Given the description of an element on the screen output the (x, y) to click on. 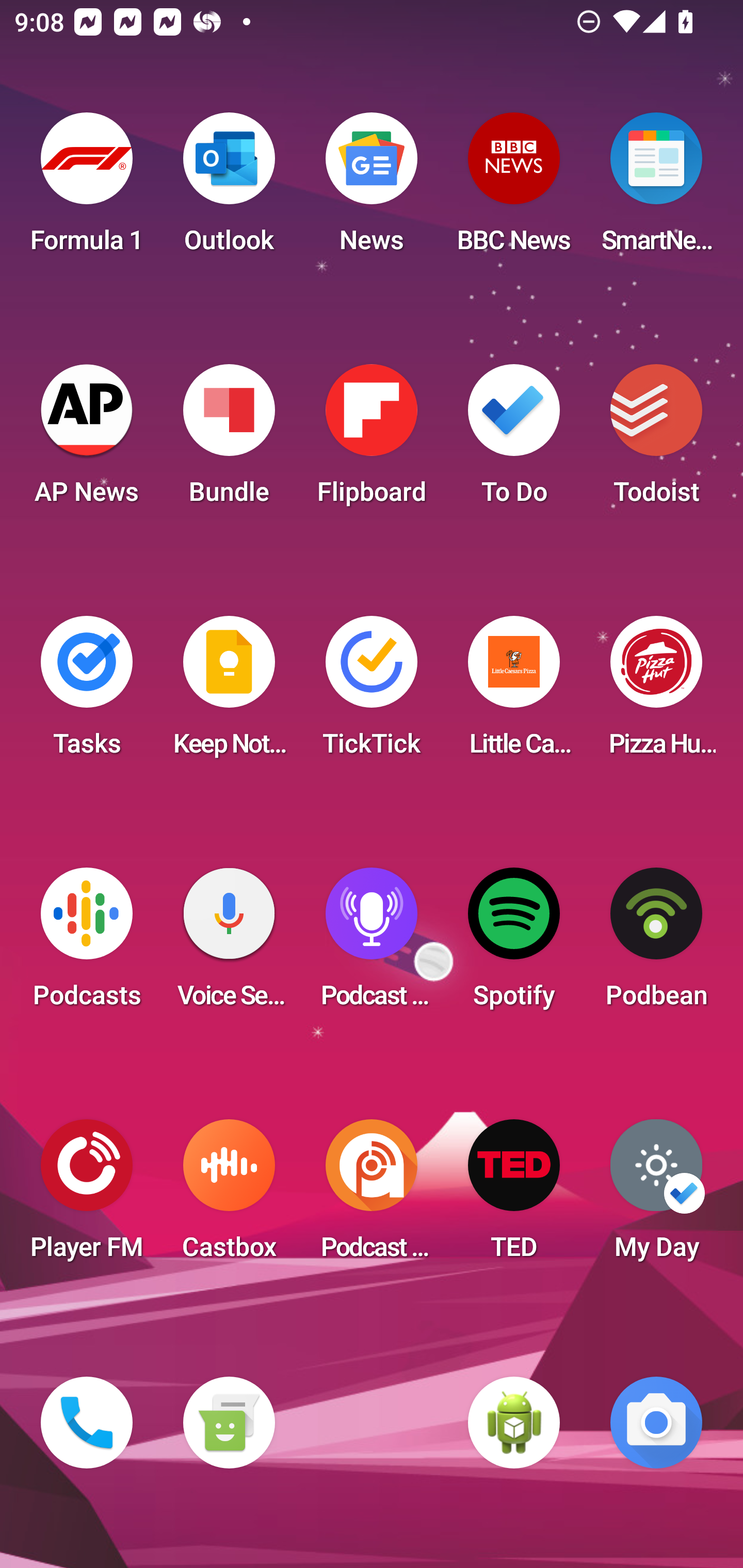
Formula 1 (86, 188)
Outlook (228, 188)
News (371, 188)
BBC News (513, 188)
SmartNews (656, 188)
AP News (86, 440)
Bundle (228, 440)
Flipboard (371, 440)
To Do (513, 440)
Todoist (656, 440)
Tasks (86, 692)
Keep Notes (228, 692)
TickTick (371, 692)
Little Caesars Pizza (513, 692)
Pizza Hut HK & Macau (656, 692)
Podcasts (86, 943)
Voice Search (228, 943)
Podcast Player (371, 943)
Spotify (513, 943)
Podbean (656, 943)
Player FM (86, 1195)
Castbox (228, 1195)
Podcast Addict (371, 1195)
TED (513, 1195)
My Day (656, 1195)
Phone (86, 1422)
Messaging (228, 1422)
WebView Browser Tester (513, 1422)
Camera (656, 1422)
